Given the description of an element on the screen output the (x, y) to click on. 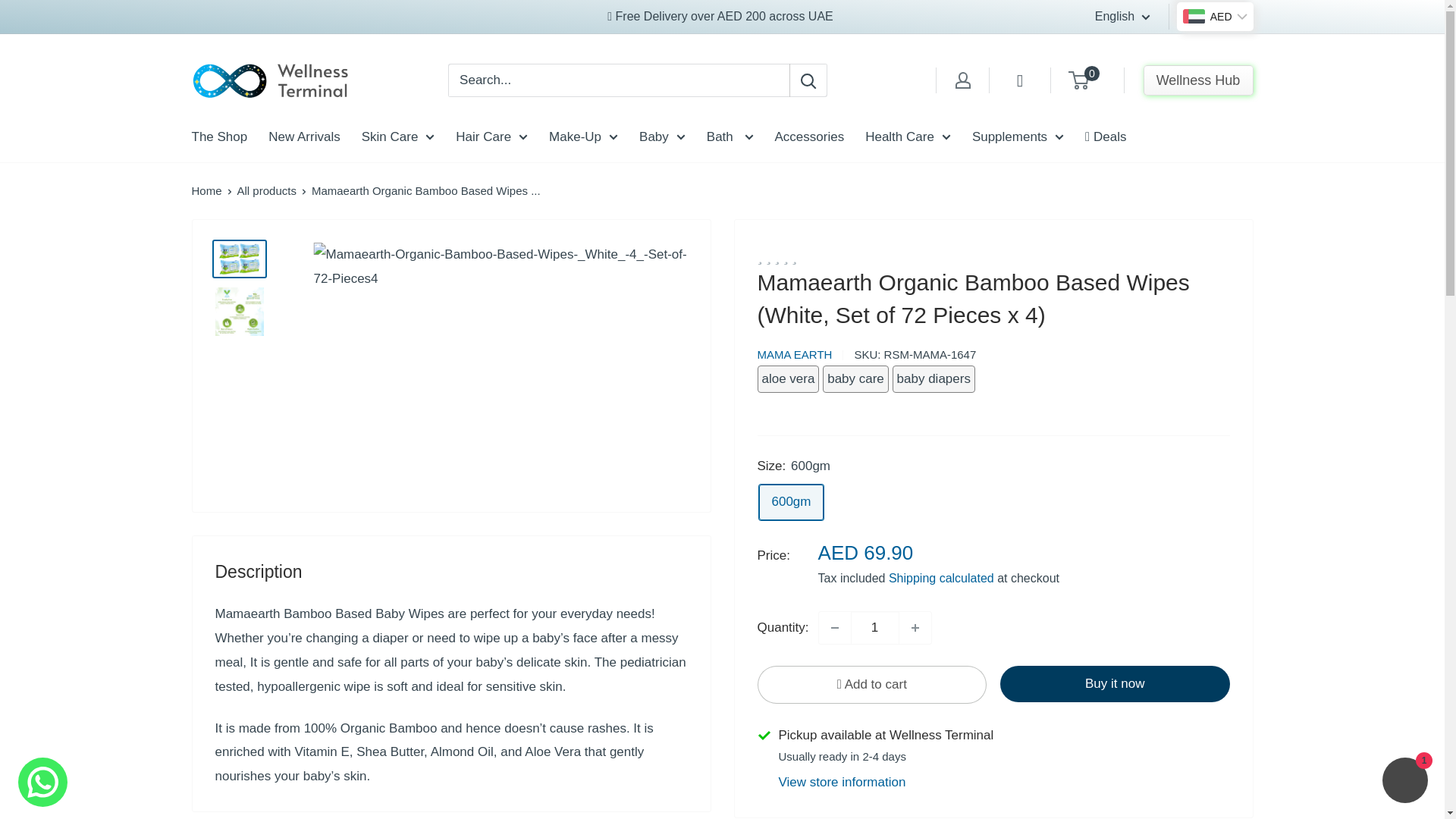
English (1122, 15)
ar (1134, 80)
Wellness Terminal (270, 80)
Decrease quantity by 1 (834, 627)
600gm (791, 502)
Shopify online store chat (1404, 781)
1 (874, 627)
Increase quantity by 1 (915, 627)
en (1134, 56)
